Given the description of an element on the screen output the (x, y) to click on. 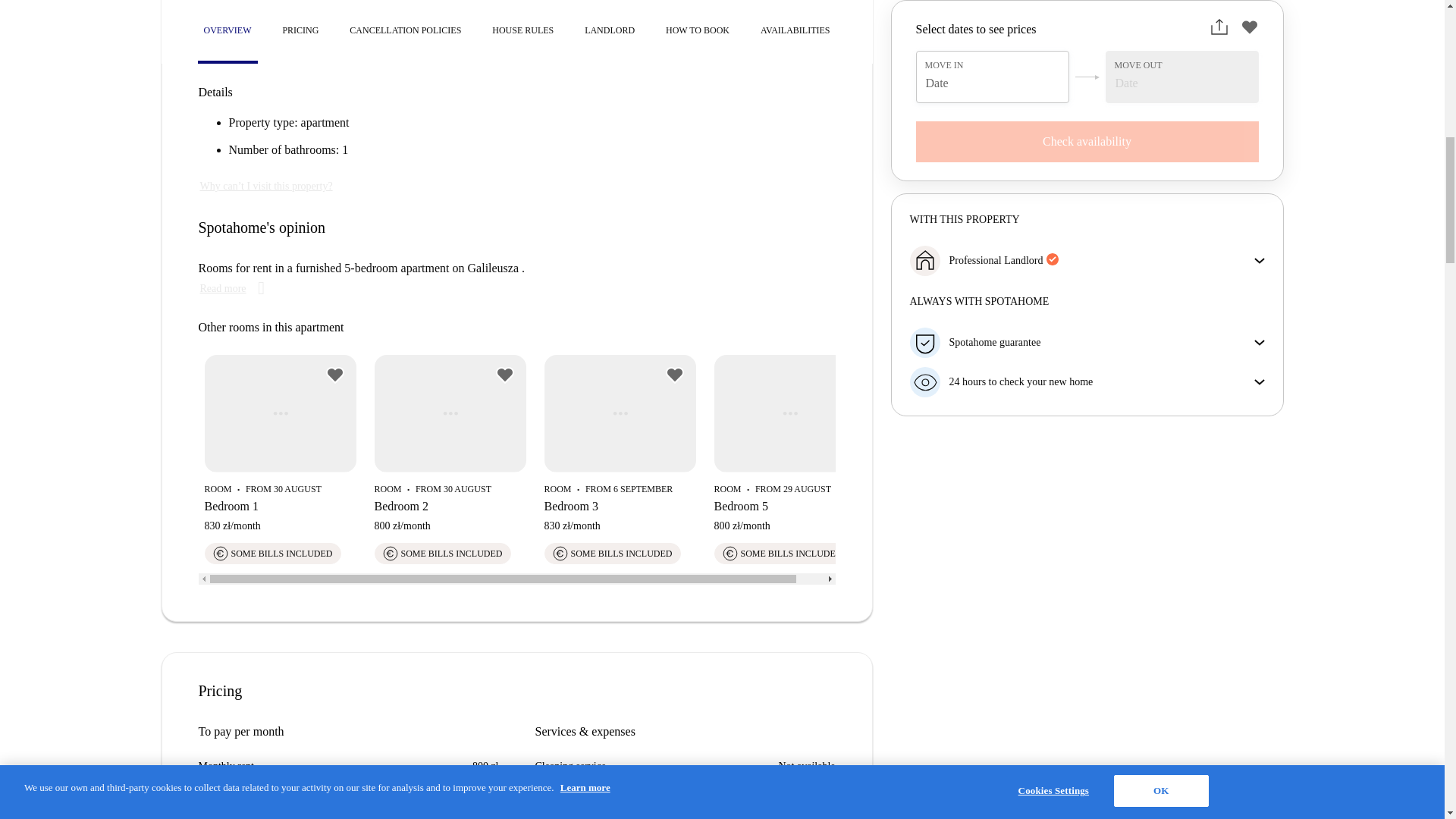
furnished (213, 49)
Suggest price (251, 809)
Read more (235, 288)
